Given the description of an element on the screen output the (x, y) to click on. 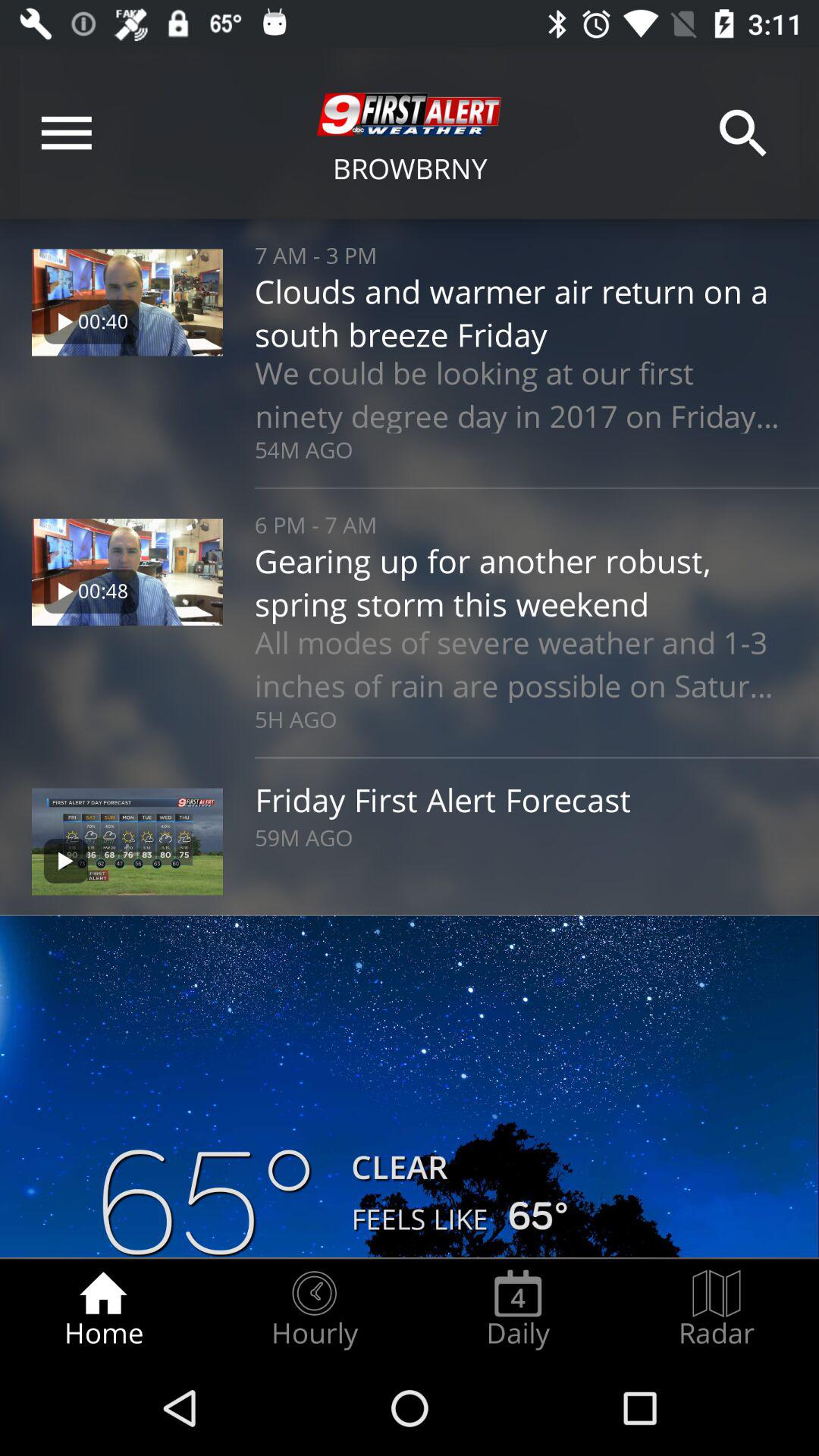
scroll until the hourly icon (314, 1309)
